Given the description of an element on the screen output the (x, y) to click on. 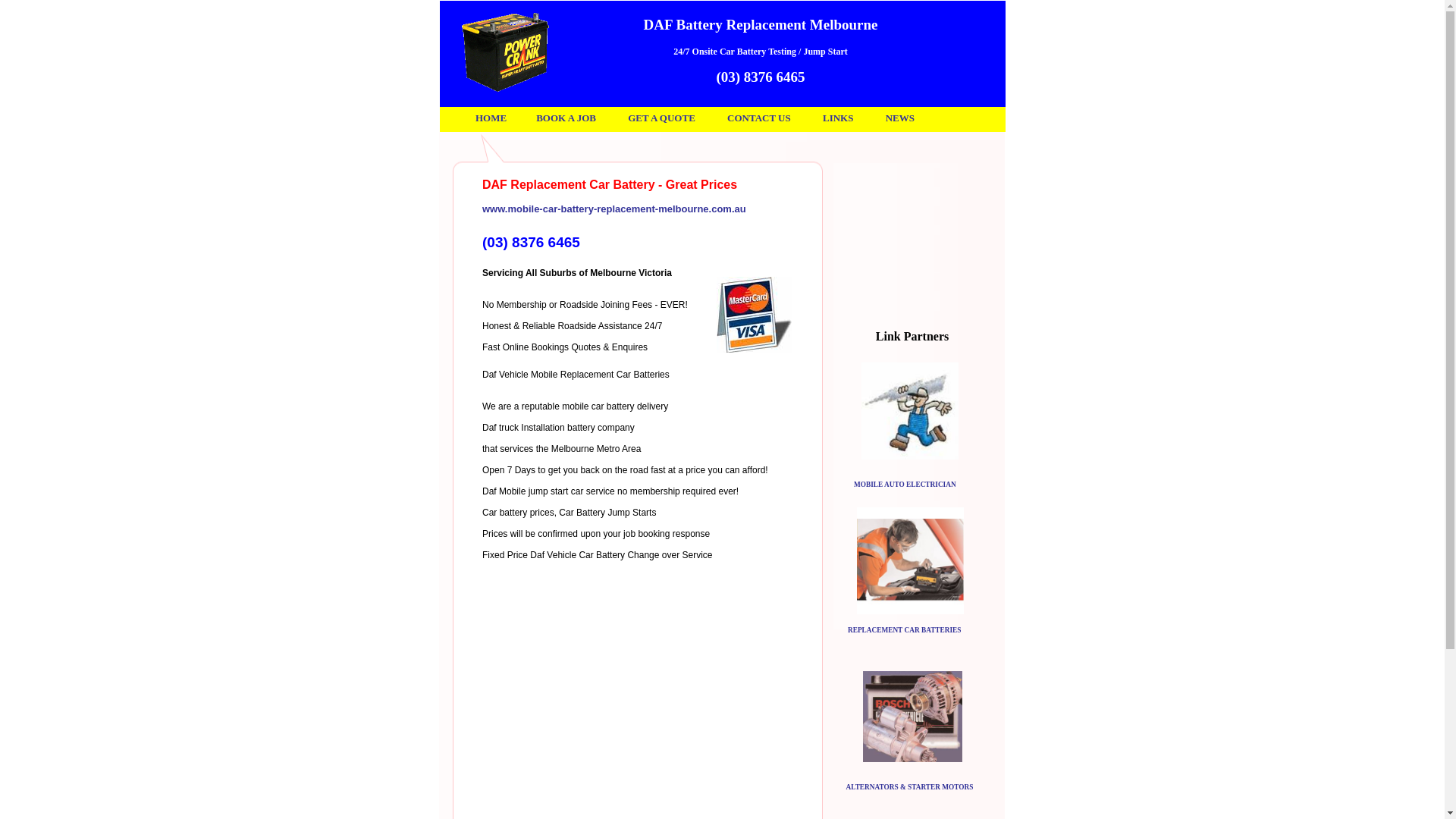
GET A QUOTE Element type: text (661, 117)
CONTACT US Element type: text (758, 117)
NEWS Element type: text (899, 117)
www.mobile-car-battery-replacement-melbourne.com.au Element type: text (614, 208)
HOME Element type: text (490, 117)
LINKS Element type: text (837, 117)
ALTERNATORS & STARTER MOTORS Element type: text (909, 786)
MOBILE AUTO ELECTRICIAN Element type: text (904, 484)
REPLACEMENT CAR BATTERIES Element type: text (903, 629)
BOOK A JOB Element type: text (566, 117)
